Given the description of an element on the screen output the (x, y) to click on. 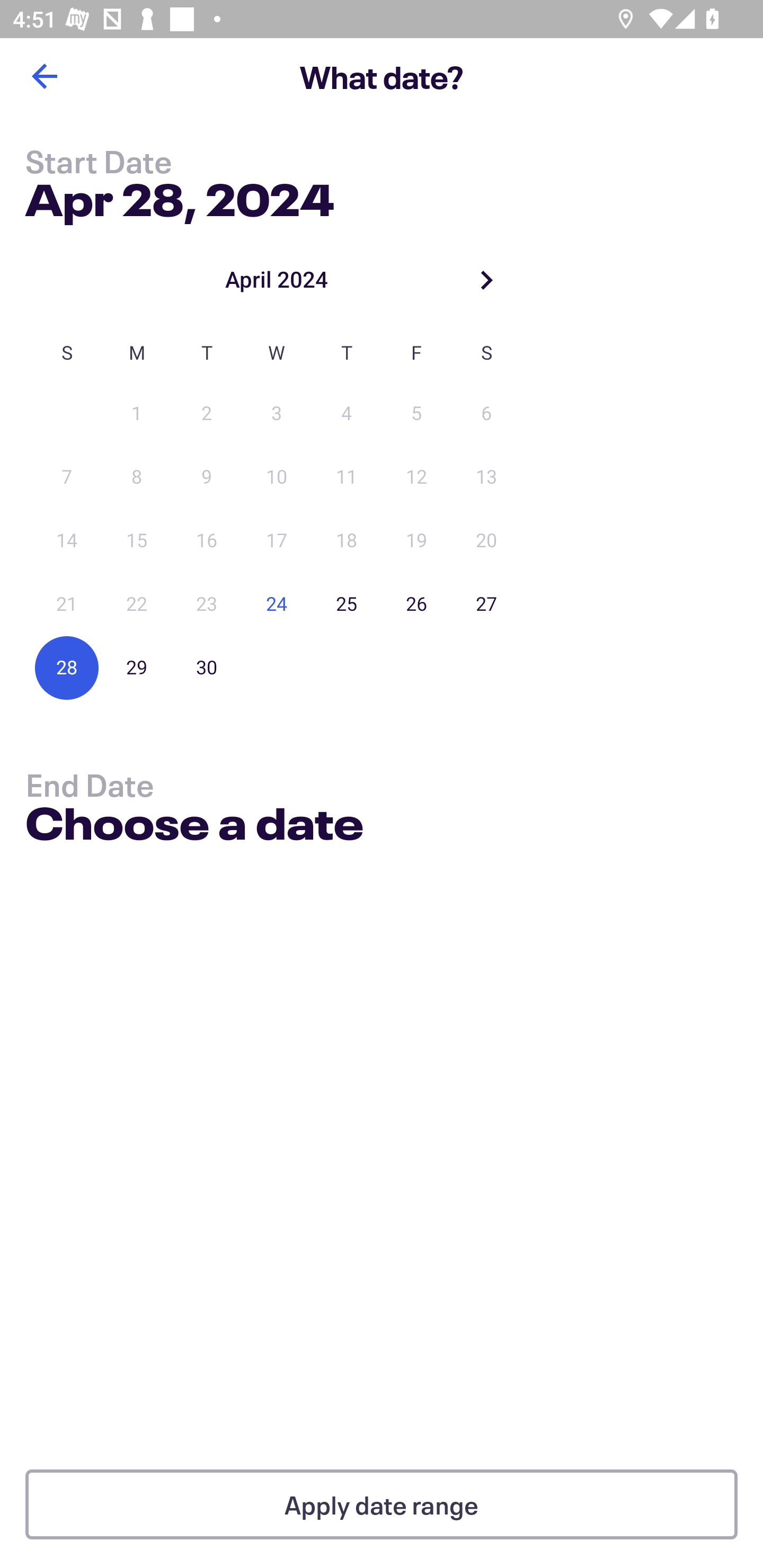
Back button (44, 75)
Apr 28, 2024 (179, 195)
Next month (486, 279)
1 01 April 2024 (136, 413)
2 02 April 2024 (206, 413)
3 03 April 2024 (276, 413)
4 04 April 2024 (346, 413)
5 05 April 2024 (416, 413)
6 06 April 2024 (486, 413)
7 07 April 2024 (66, 477)
8 08 April 2024 (136, 477)
9 09 April 2024 (206, 477)
10 10 April 2024 (276, 477)
11 11 April 2024 (346, 477)
12 12 April 2024 (416, 477)
13 13 April 2024 (486, 477)
14 14 April 2024 (66, 540)
15 15 April 2024 (136, 540)
16 16 April 2024 (206, 540)
17 17 April 2024 (276, 540)
18 18 April 2024 (346, 540)
19 19 April 2024 (416, 540)
20 20 April 2024 (486, 540)
21 21 April 2024 (66, 604)
22 22 April 2024 (136, 604)
23 23 April 2024 (206, 604)
24 24 April 2024 (276, 604)
25 25 April 2024 (346, 604)
26 26 April 2024 (416, 604)
27 27 April 2024 (486, 604)
28 28 April 2024 (66, 667)
29 29 April 2024 (136, 667)
30 30 April 2024 (206, 667)
Choose a date (194, 826)
Apply date range (381, 1504)
